Given the description of an element on the screen output the (x, y) to click on. 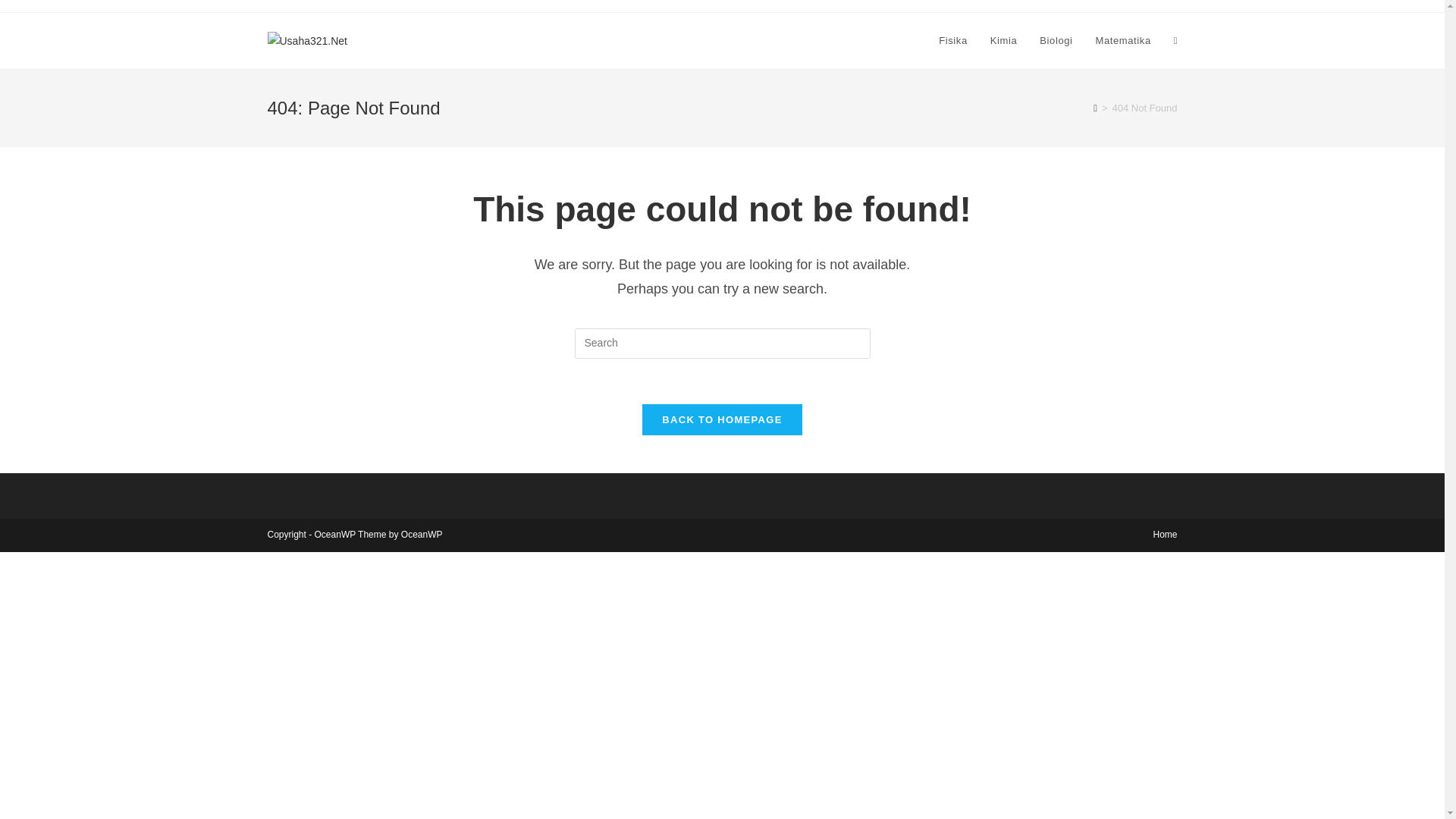
Fisika (952, 40)
Home (1164, 534)
Biologi (1055, 40)
Matematika (1122, 40)
Kimia (1003, 40)
BACK TO HOMEPAGE (722, 419)
